Given the description of an element on the screen output the (x, y) to click on. 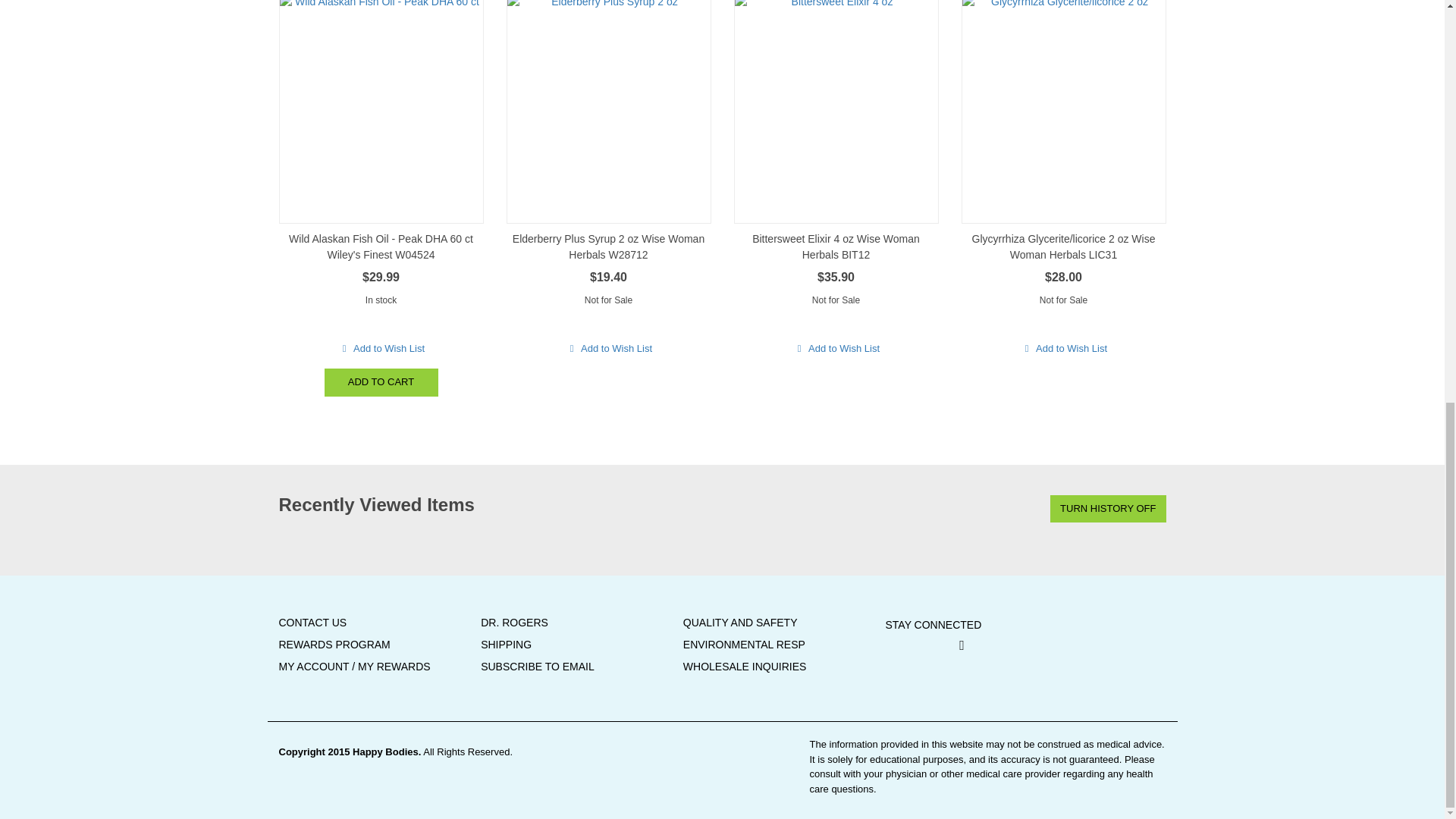
Like Us on Facebook (961, 645)
